Given the description of an element on the screen output the (x, y) to click on. 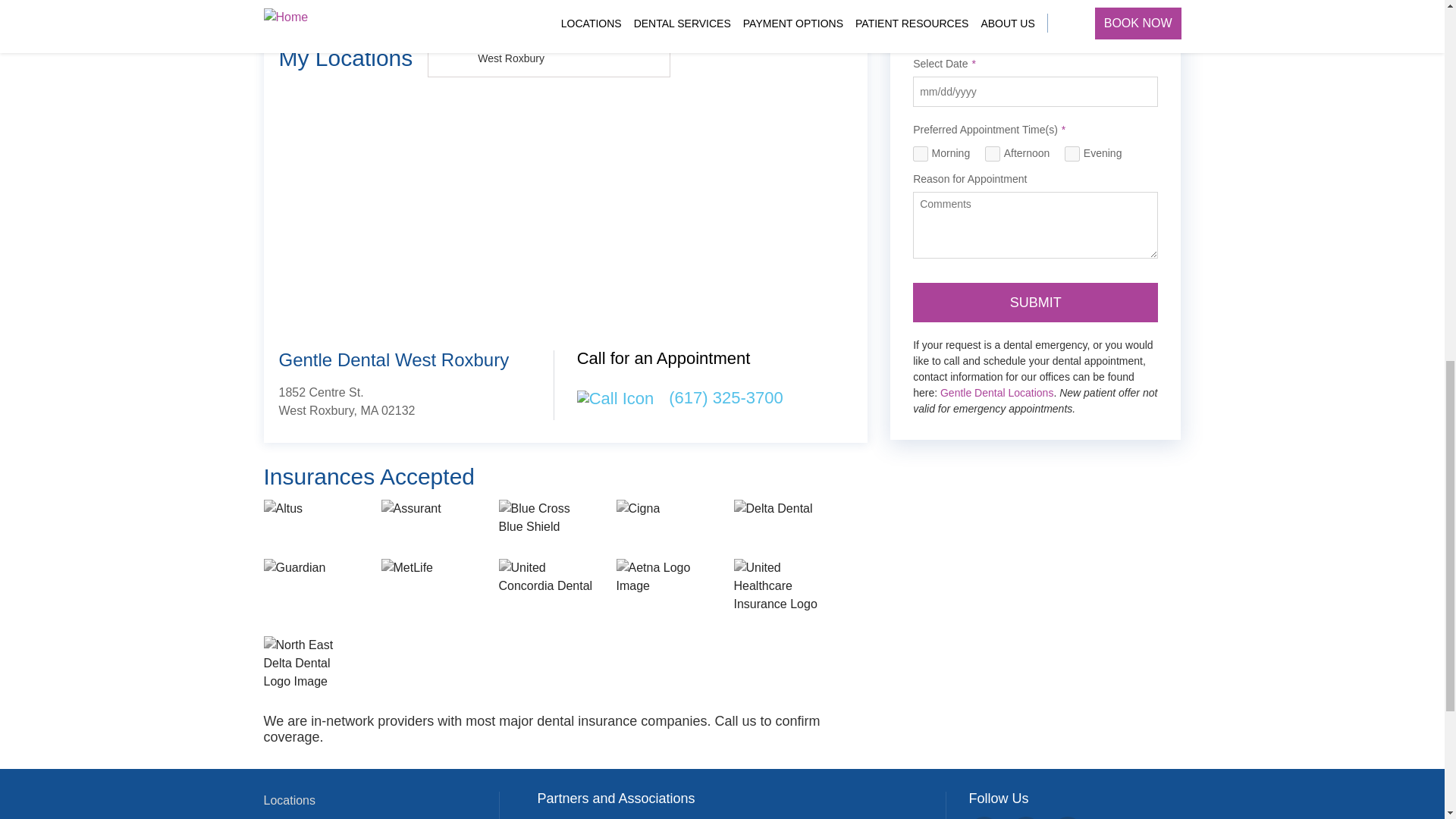
Submit (1034, 302)
Evening (1072, 153)
Morning (920, 153)
Yes (917, 32)
Afternoon (992, 153)
No (979, 32)
